Given the description of an element on the screen output the (x, y) to click on. 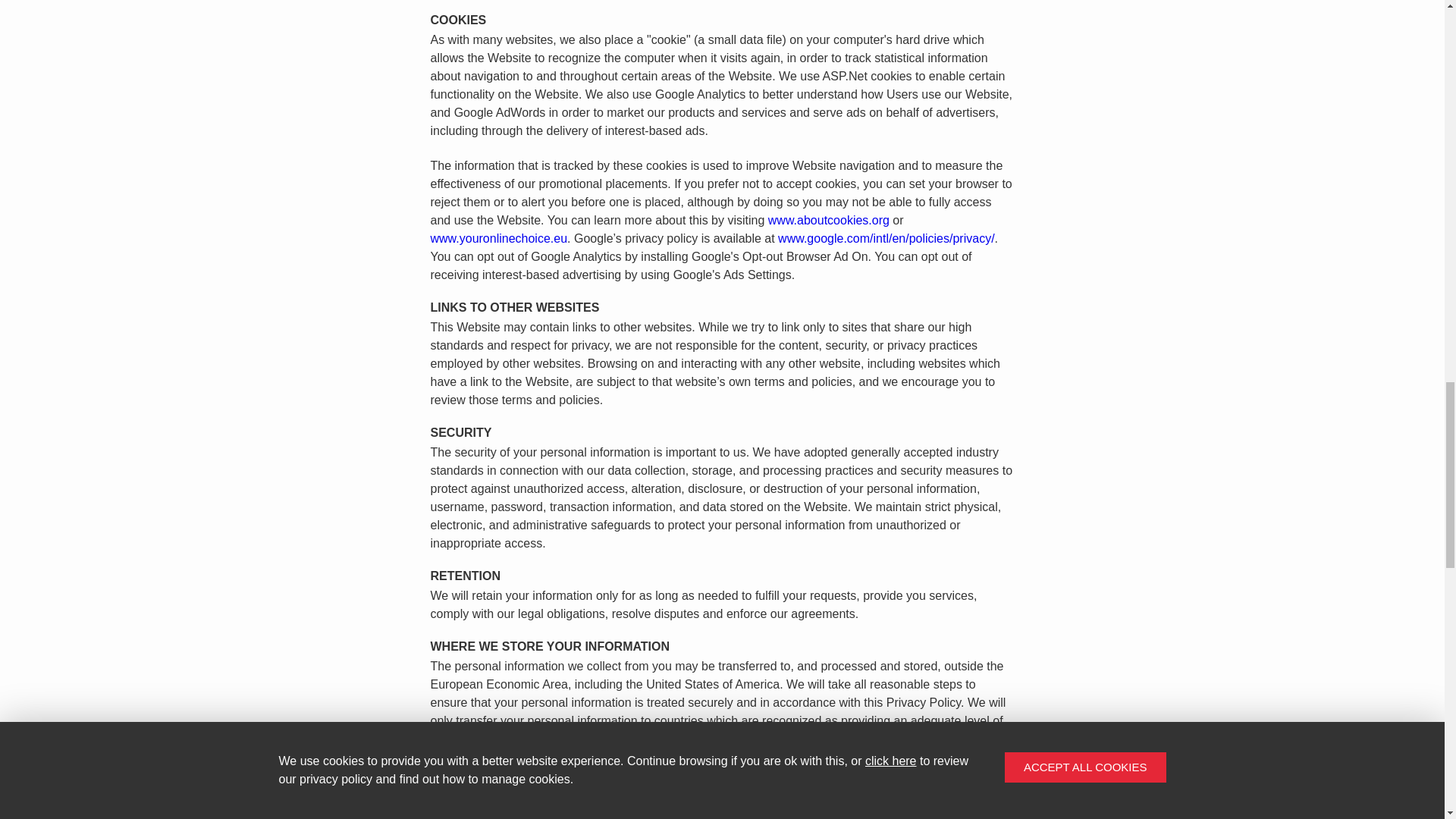
www.aboutcookies.org (828, 219)
www.youronlinechoice.eu (498, 237)
